Given the description of an element on the screen output the (x, y) to click on. 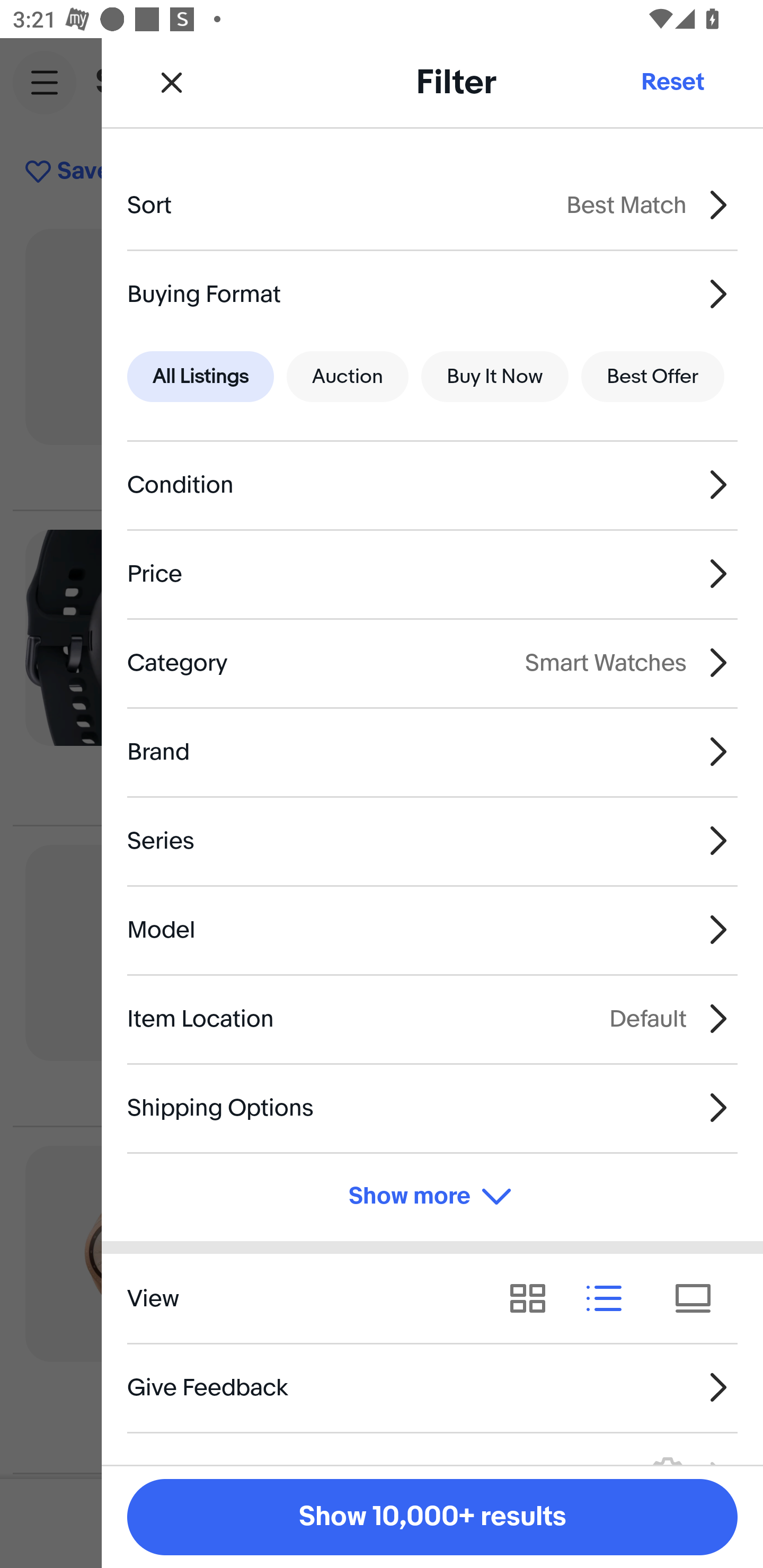
Close Filter (171, 81)
Reset (672, 81)
Buying Format (432, 293)
All Listings (200, 376)
Auction (347, 376)
Buy It Now (494, 376)
Best Offer (652, 376)
Condition (432, 484)
Price (432, 573)
Category Smart Watches (432, 662)
Brand (432, 751)
Series (432, 840)
Model (432, 929)
Item Location Default (432, 1018)
Shipping Options (432, 1107)
Show more (432, 1196)
View results as grid (533, 1297)
View results as list (610, 1297)
View results as tiles (699, 1297)
Show 10,000+ results (432, 1516)
